Given the description of an element on the screen output the (x, y) to click on. 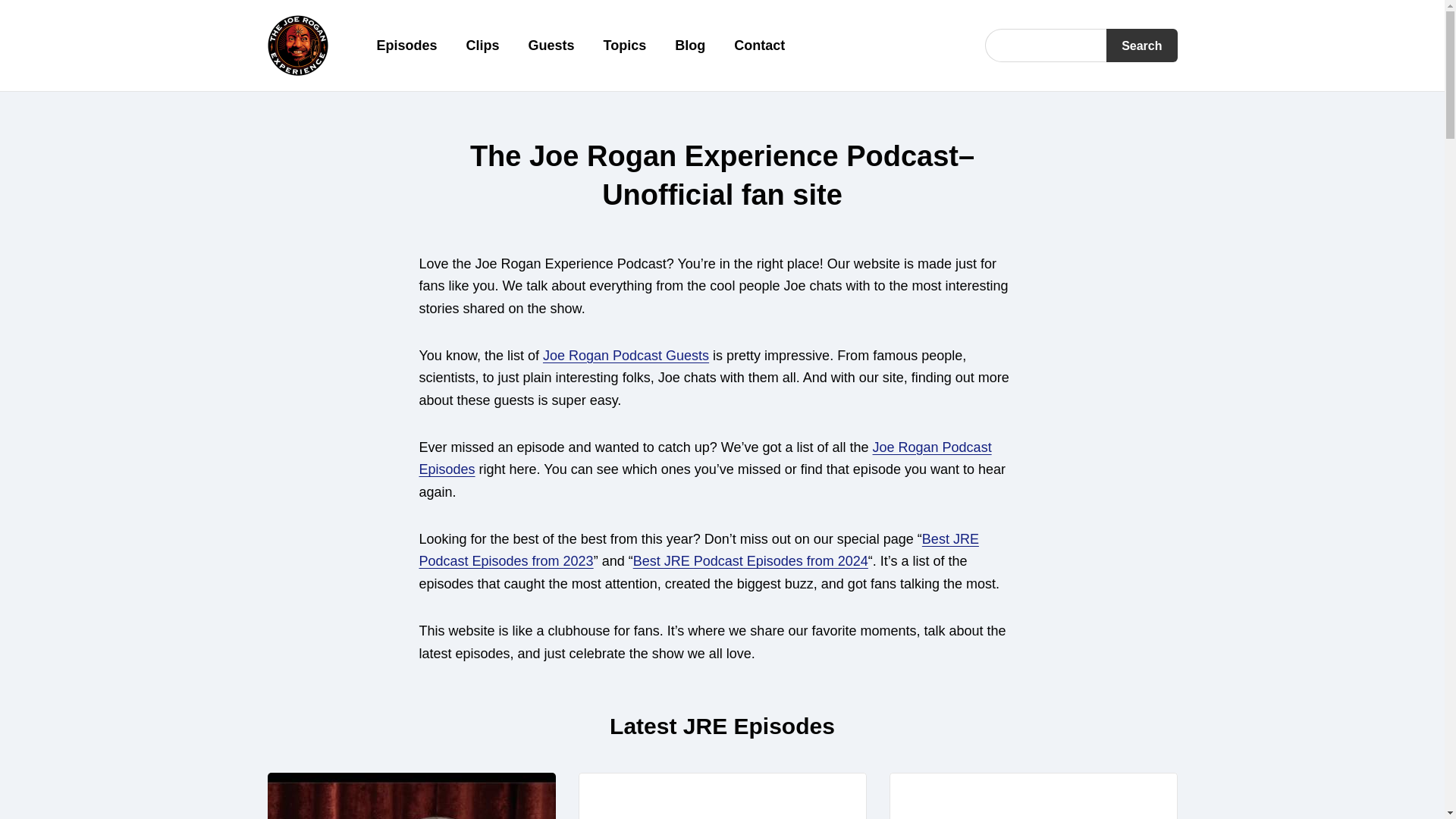
Best JRE Podcast Episodes from 2023 (698, 550)
Contact (758, 45)
Latest JRE Episodes (722, 725)
Joe Rogan Podcast Episodes (705, 458)
Clips (482, 45)
Topics (624, 45)
Search (1141, 45)
Guests (551, 45)
Joe Rogan Podcast Guests (626, 355)
Best JRE Podcast Episodes from 2024 (750, 560)
